Given the description of an element on the screen output the (x, y) to click on. 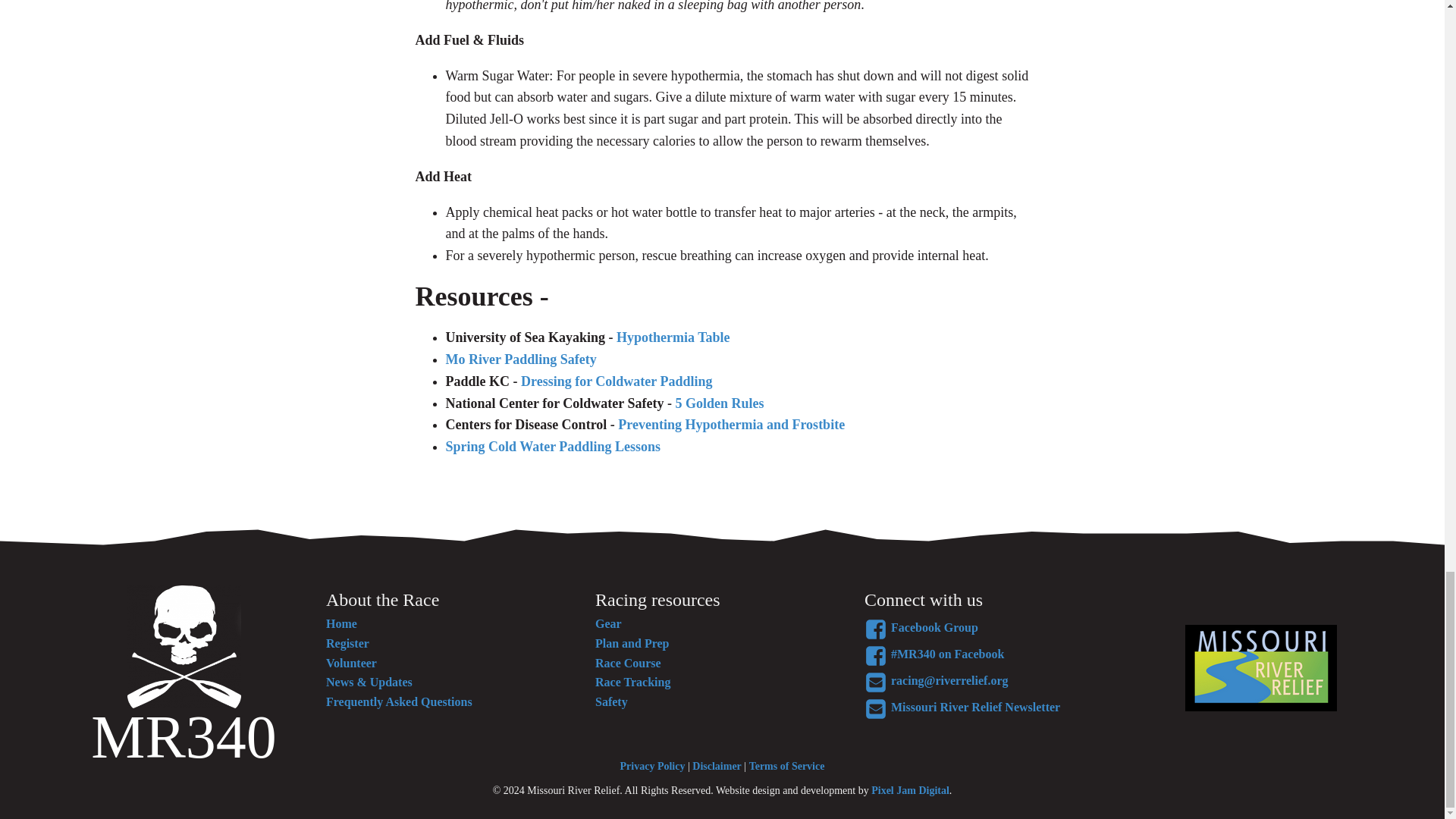
Register (398, 643)
Hypothermia Table (671, 337)
5 Golden Rules (718, 403)
Frequently Asked Questions (398, 701)
Facebook Group (1001, 629)
Safety (632, 701)
Preventing Hypothermia and Frostbite (730, 424)
Volunteer (398, 663)
Race Tracking (632, 682)
Race Course (632, 663)
Website design and development by Pixel Jam Digital (909, 790)
Home (398, 623)
Plan and Prep (632, 643)
Gear (632, 623)
Mo River Paddling Safety (520, 359)
